Given the description of an element on the screen output the (x, y) to click on. 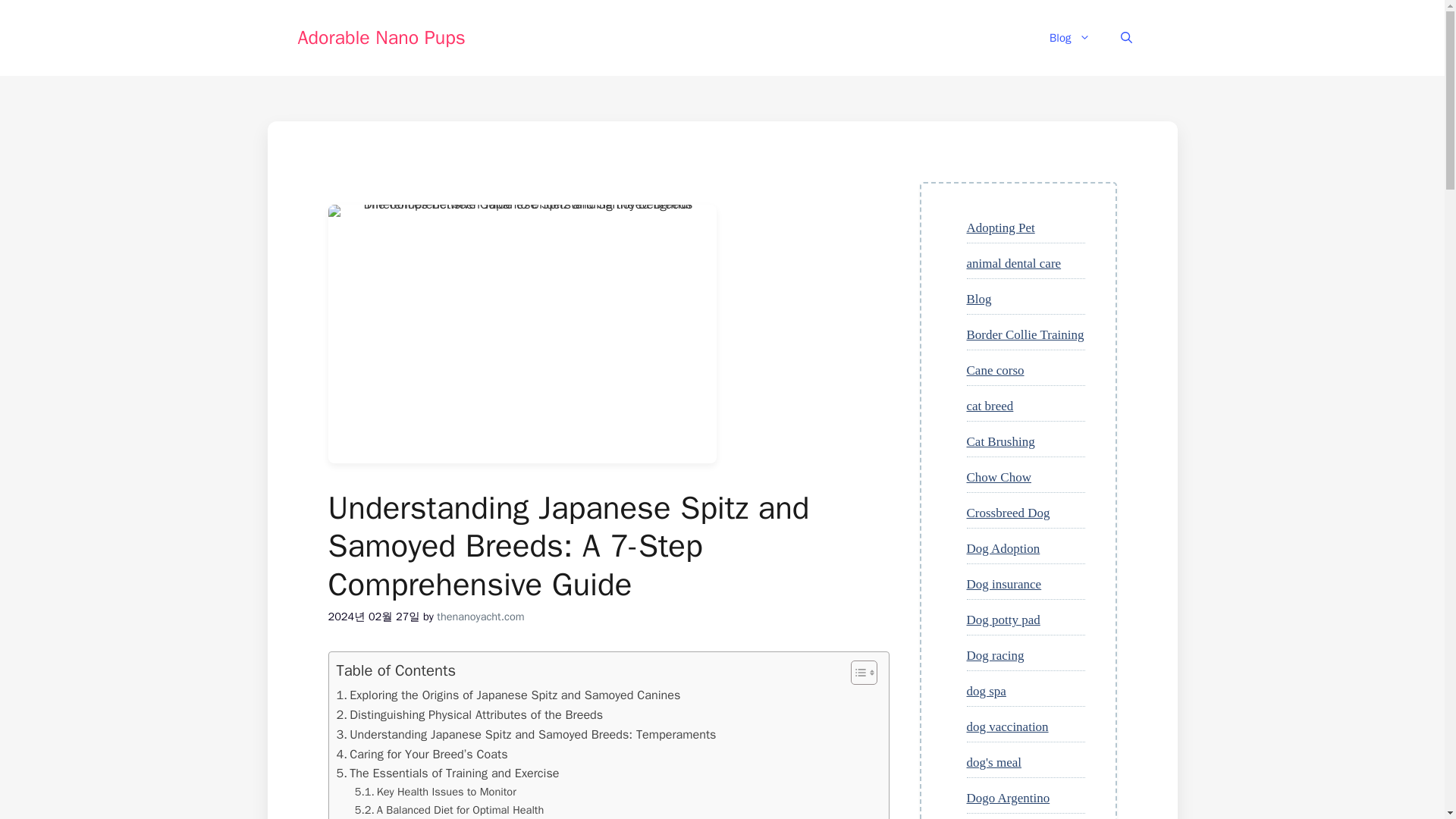
Exploring the Origins of Japanese Spitz and Samoyed Canines (508, 695)
animal dental care (1013, 263)
The Essentials of Training and Exercise (447, 772)
Distinguishing Physical Attributes of the Breeds (470, 714)
Blog (978, 298)
Key Health Issues to Monitor (435, 791)
Exploring the Origins of Japanese Spitz and Samoyed Canines (508, 695)
Distinguishing Physical Attributes of the Breeds (470, 714)
Border Collie Training (1024, 334)
thenanoyacht.com (480, 616)
A Balanced Diet for Optimal Health (449, 810)
A Balanced Diet for Optimal Health (449, 810)
The Essentials of Training and Exercise (447, 772)
Adopting Pet (999, 227)
